Given the description of an element on the screen output the (x, y) to click on. 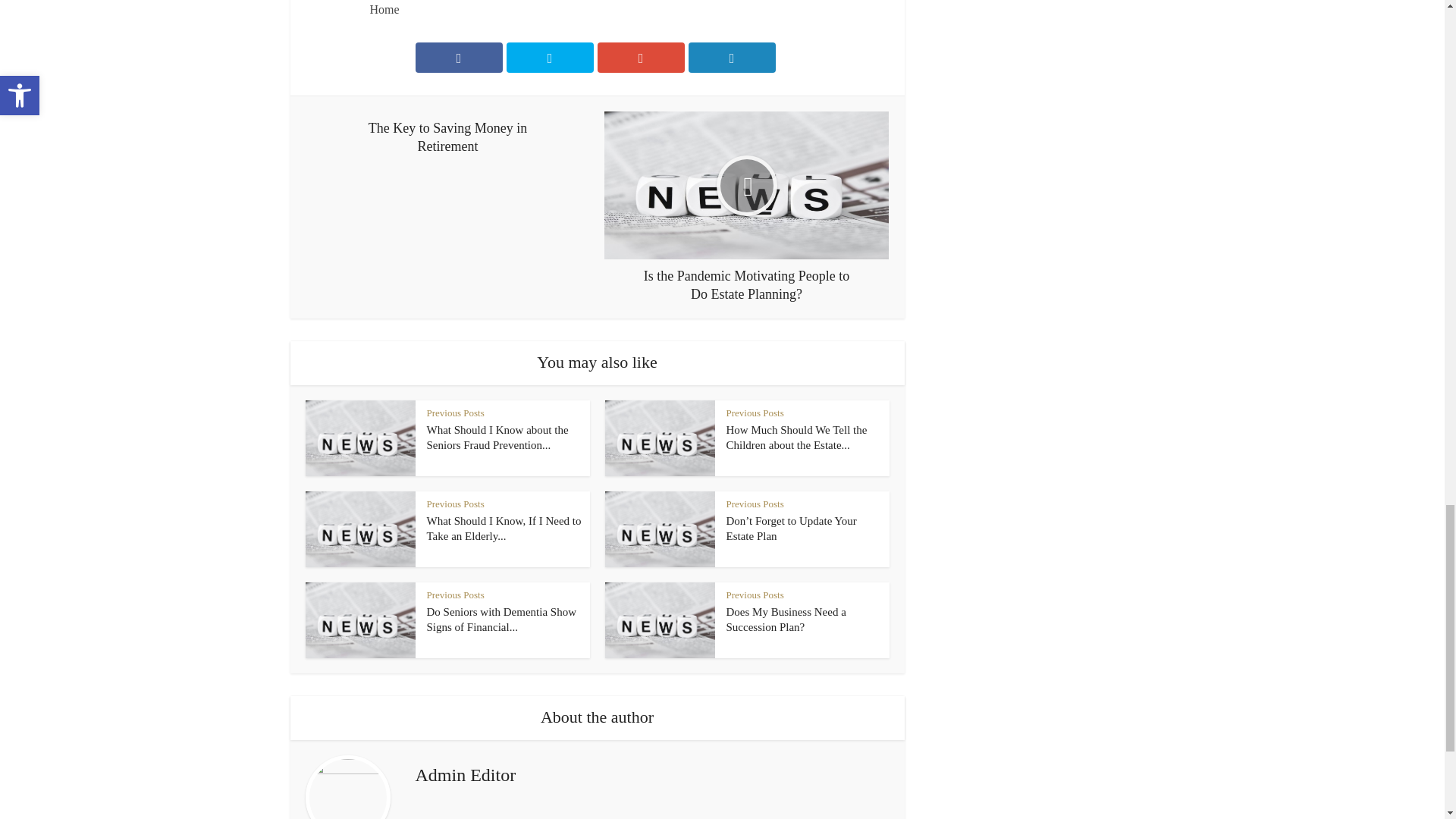
How Much Should We Tell the Children about the Estate Plan? (796, 437)
What Should I Know about the Seniors Fraud Prevention Act? (496, 437)
Does My Business Need a Succession Plan? (785, 619)
